Given the description of an element on the screen output the (x, y) to click on. 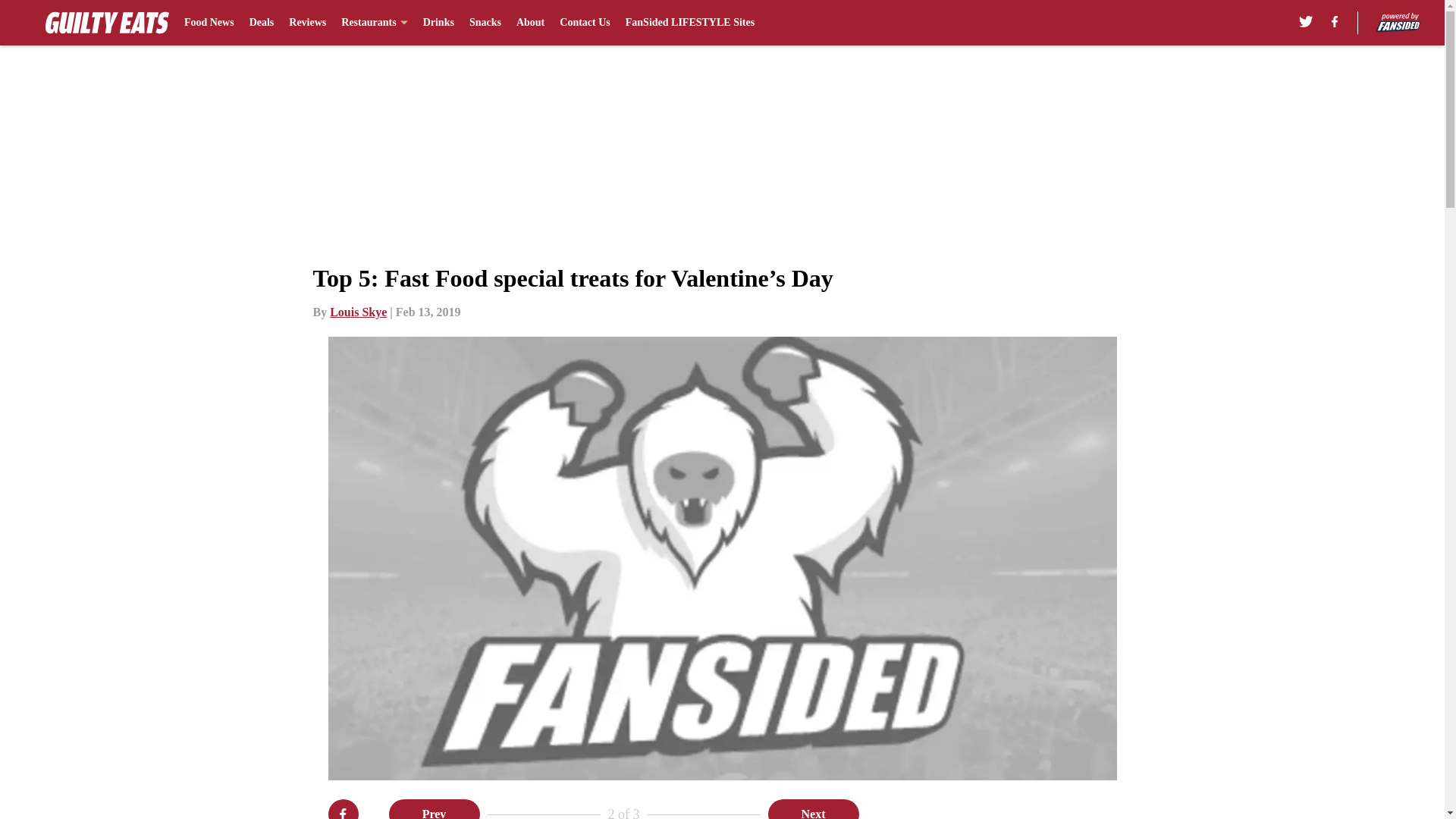
Snacks (484, 22)
Prev (433, 809)
FanSided LIFESTYLE Sites (690, 22)
Reviews (307, 22)
Restaurants (373, 22)
Next (813, 809)
Contact Us (584, 22)
Deals (261, 22)
Food News (209, 22)
Drinks (438, 22)
